Given the description of an element on the screen output the (x, y) to click on. 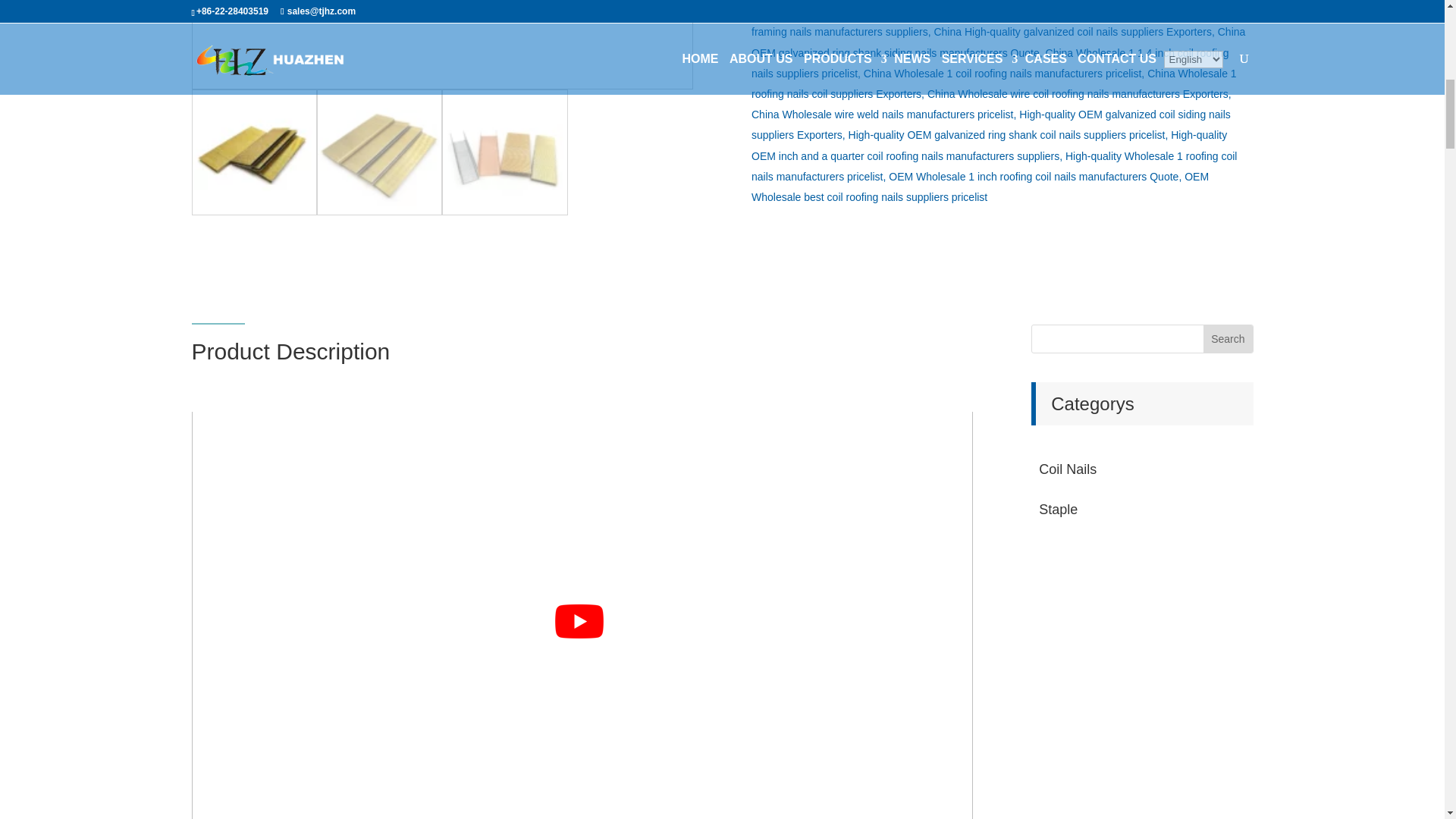
Coil Nails (1141, 468)
Search (1228, 338)
Staple (1141, 509)
Search (1228, 338)
